Given the description of an element on the screen output the (x, y) to click on. 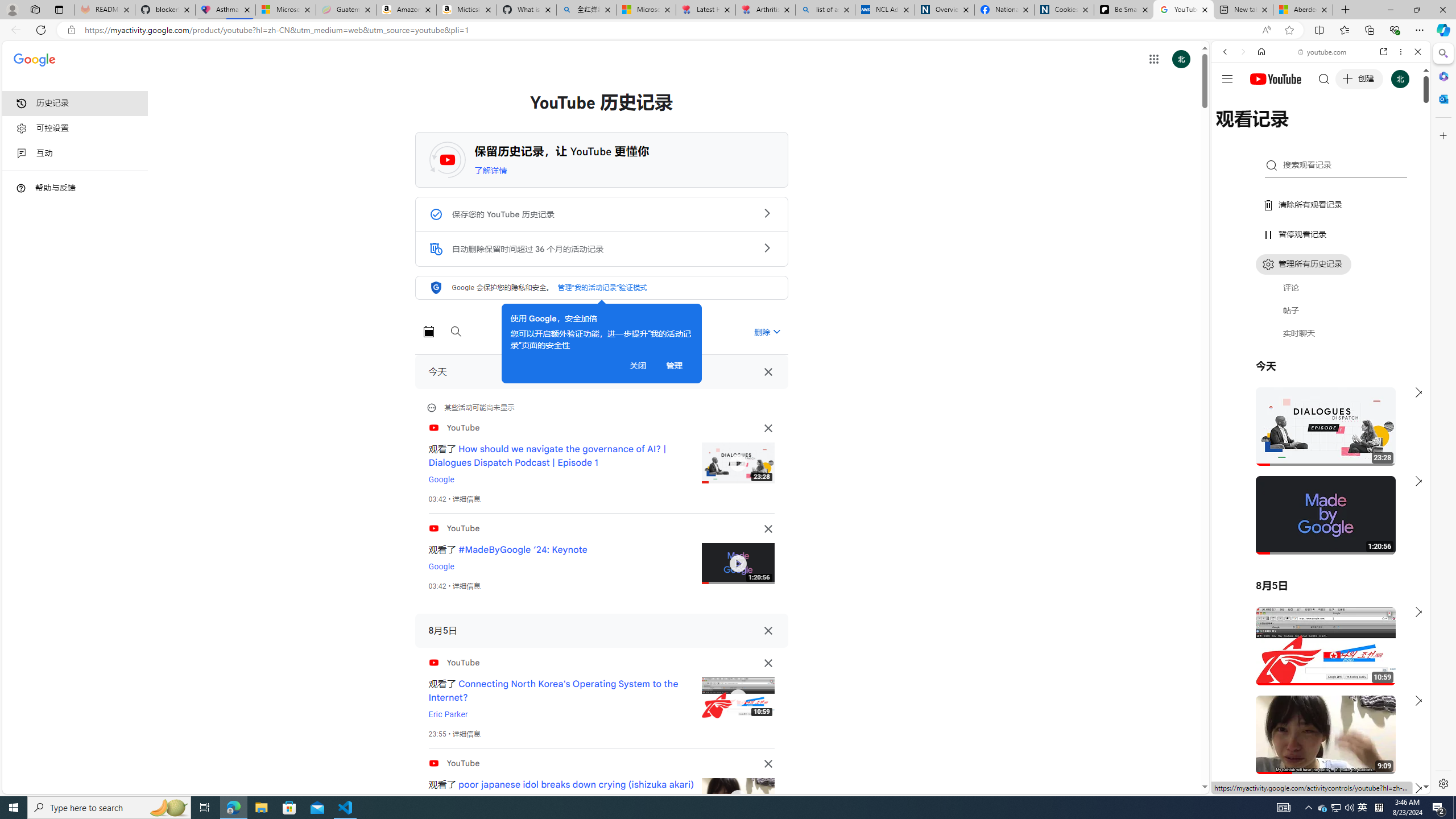
US[ju] (1249, 785)
Class: i2GIId (21, 153)
#you (1320, 253)
YouTube - YouTube (1315, 560)
Click to scroll right (1407, 456)
